Given the description of an element on the screen output the (x, y) to click on. 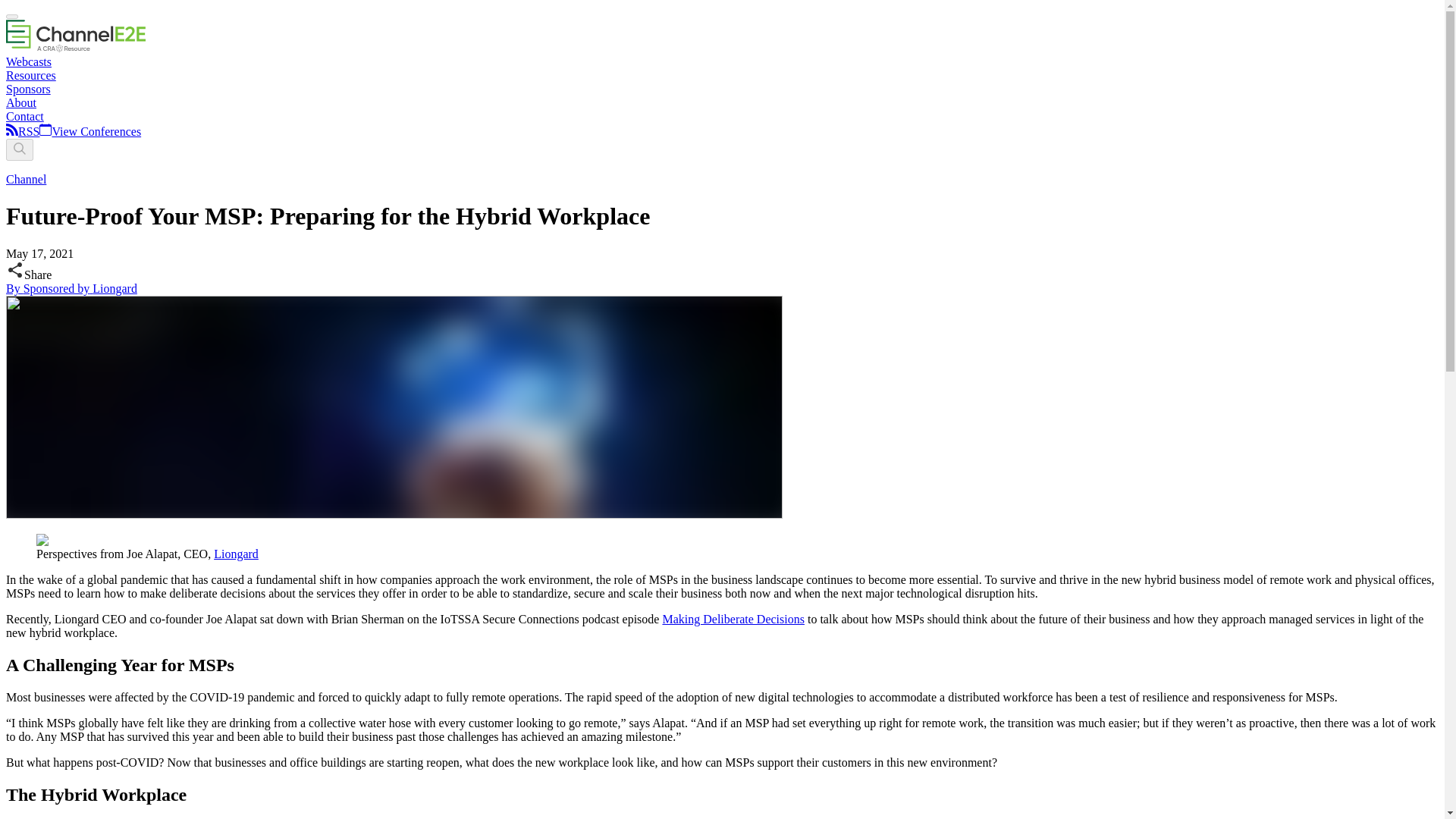
View Conferences (90, 131)
View Cybersecurity Conference Calendar (90, 131)
ChannelE2E (75, 47)
Contact (24, 115)
Resources (30, 74)
Sponsors (27, 88)
RSS (28, 131)
Webcasts (27, 61)
Channel (25, 178)
RSS Feed for ChannelE2E Latest Articles (11, 131)
Making Deliberate Decisions (733, 618)
By Sponsored by Liongard (70, 287)
About (20, 102)
Liongard (236, 553)
